Given the description of an element on the screen output the (x, y) to click on. 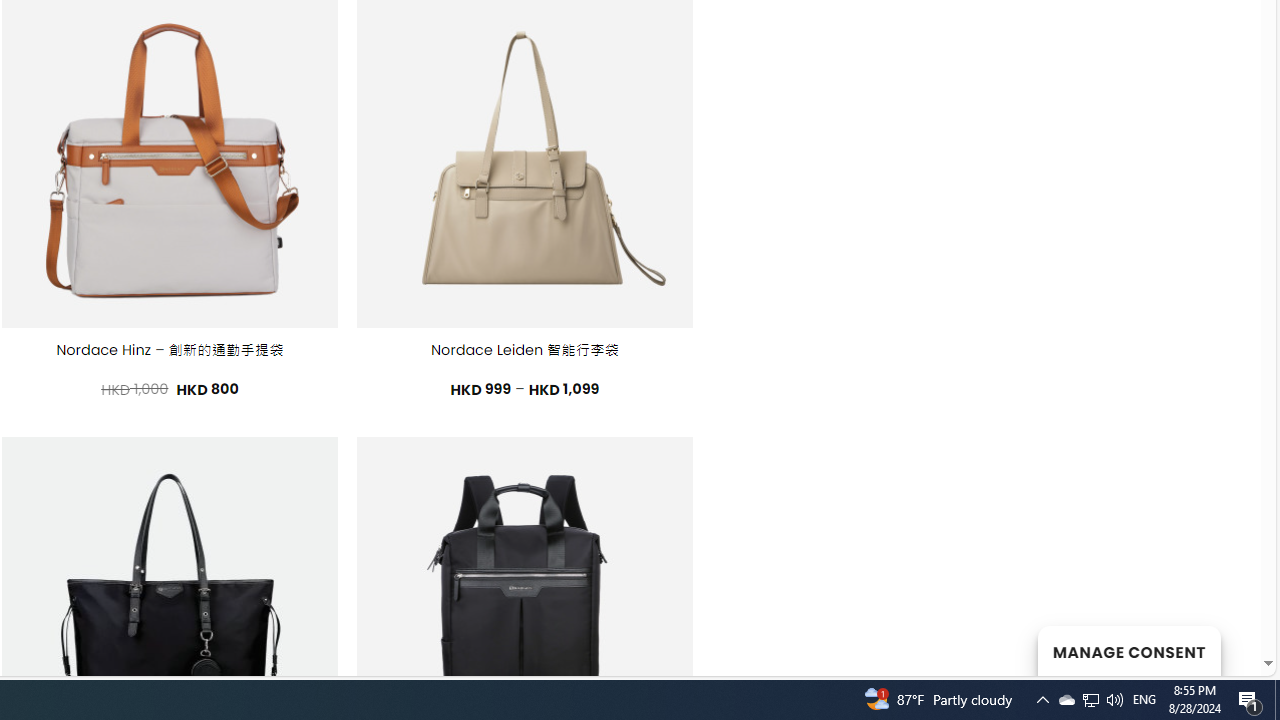
MANAGE CONSENT (1128, 650)
